Given the description of an element on the screen output the (x, y) to click on. 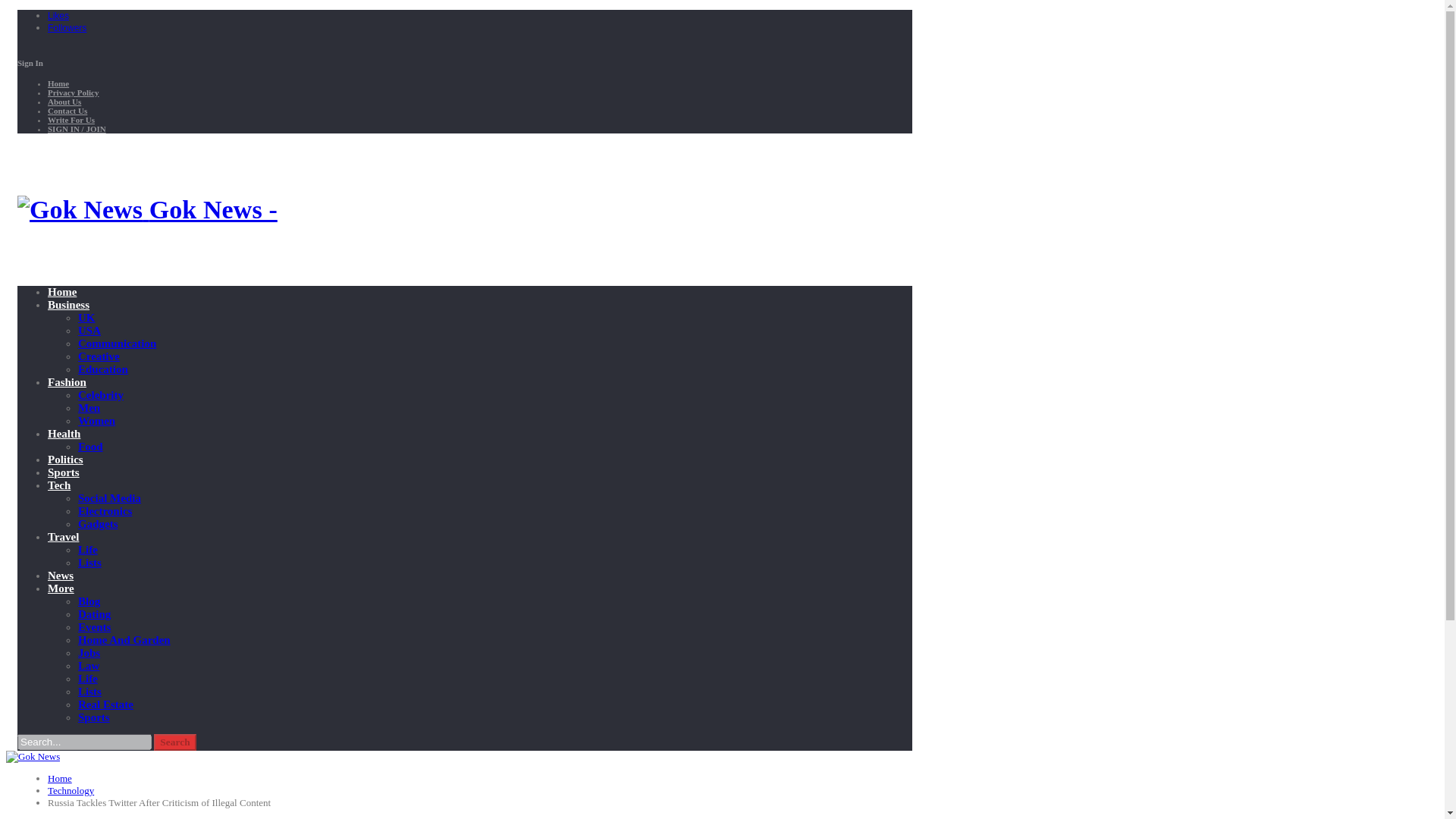
Search (175, 742)
Blog (89, 601)
Fashion (66, 381)
Write For Us (71, 119)
Social Media (109, 498)
Business (68, 304)
Men (89, 408)
UK (87, 317)
Likes (58, 15)
More (61, 588)
Sign In (30, 62)
Food (90, 446)
Creative (98, 356)
Politics (65, 459)
Women (96, 420)
